Given the description of an element on the screen output the (x, y) to click on. 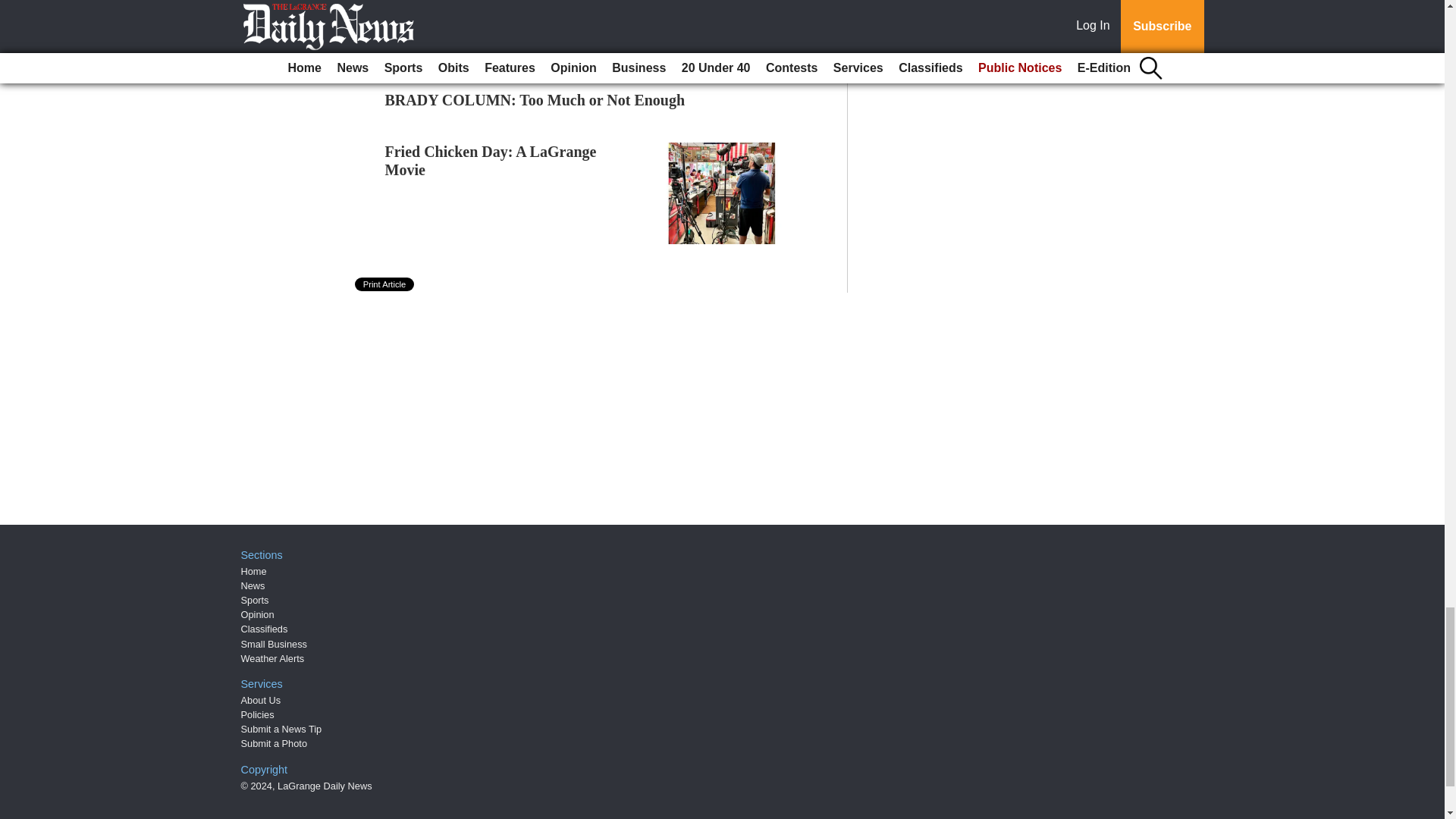
Home (253, 571)
Print Article (384, 284)
First Presbyterian announces grant opportunities (544, 48)
BRADY COLUMN: Too Much or Not Enough (535, 99)
Fried Chicken Day: A LaGrange Movie (490, 160)
First Presbyterian announces grant opportunities (544, 48)
Fried Chicken Day: A LaGrange Movie (490, 160)
BRADY COLUMN: Too Much or Not Enough (535, 99)
